Given the description of an element on the screen output the (x, y) to click on. 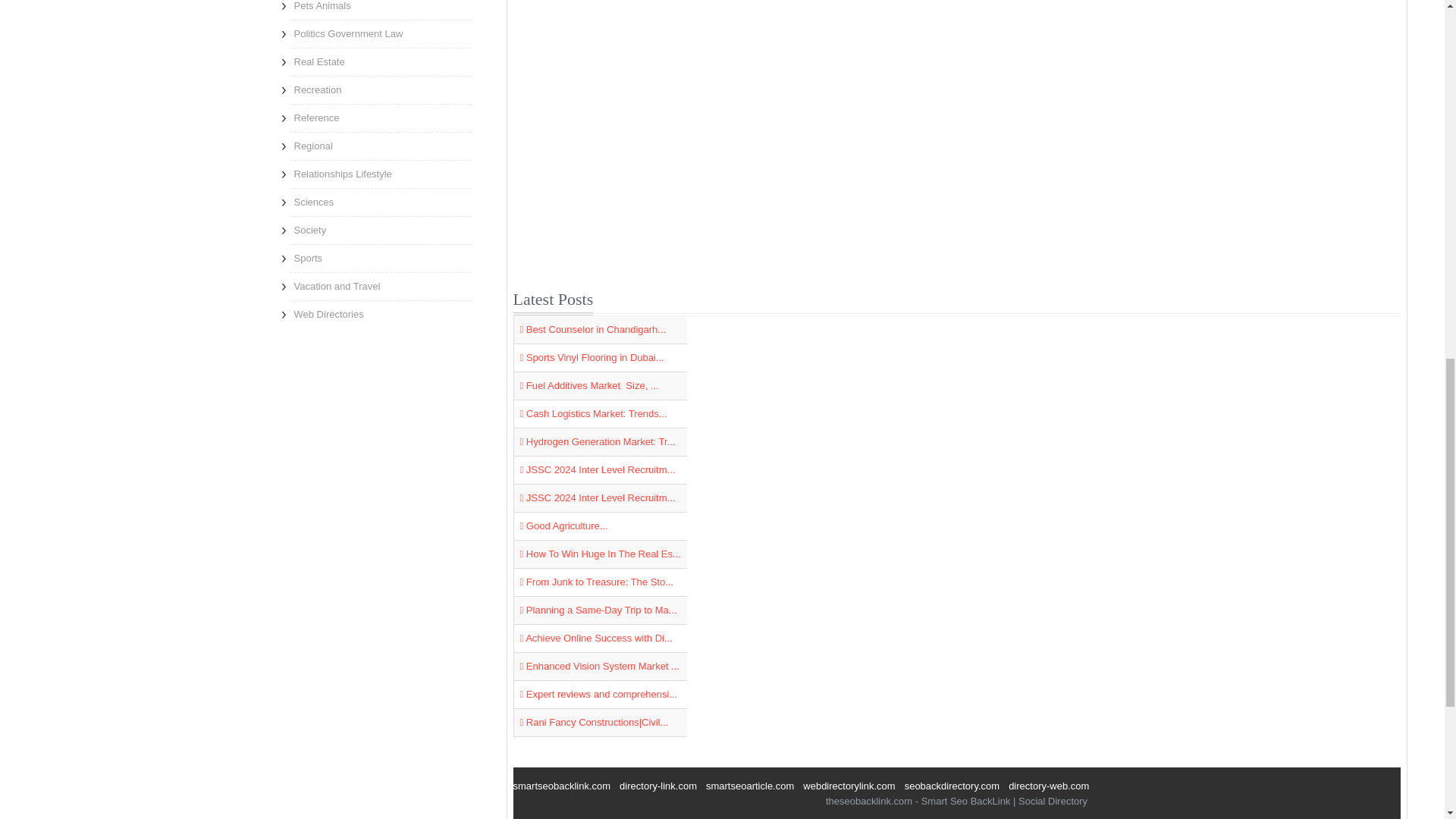
Society (381, 230)
Sports (381, 257)
Vacation and Travel (381, 286)
Sciences (381, 202)
Politics Government Law (381, 33)
Web Directories (381, 314)
Reference (381, 117)
Regional (381, 145)
Relationships Lifestyle (381, 174)
Real Estate (381, 62)
Pets Animals (381, 9)
Recreation (381, 90)
